Given the description of an element on the screen output the (x, y) to click on. 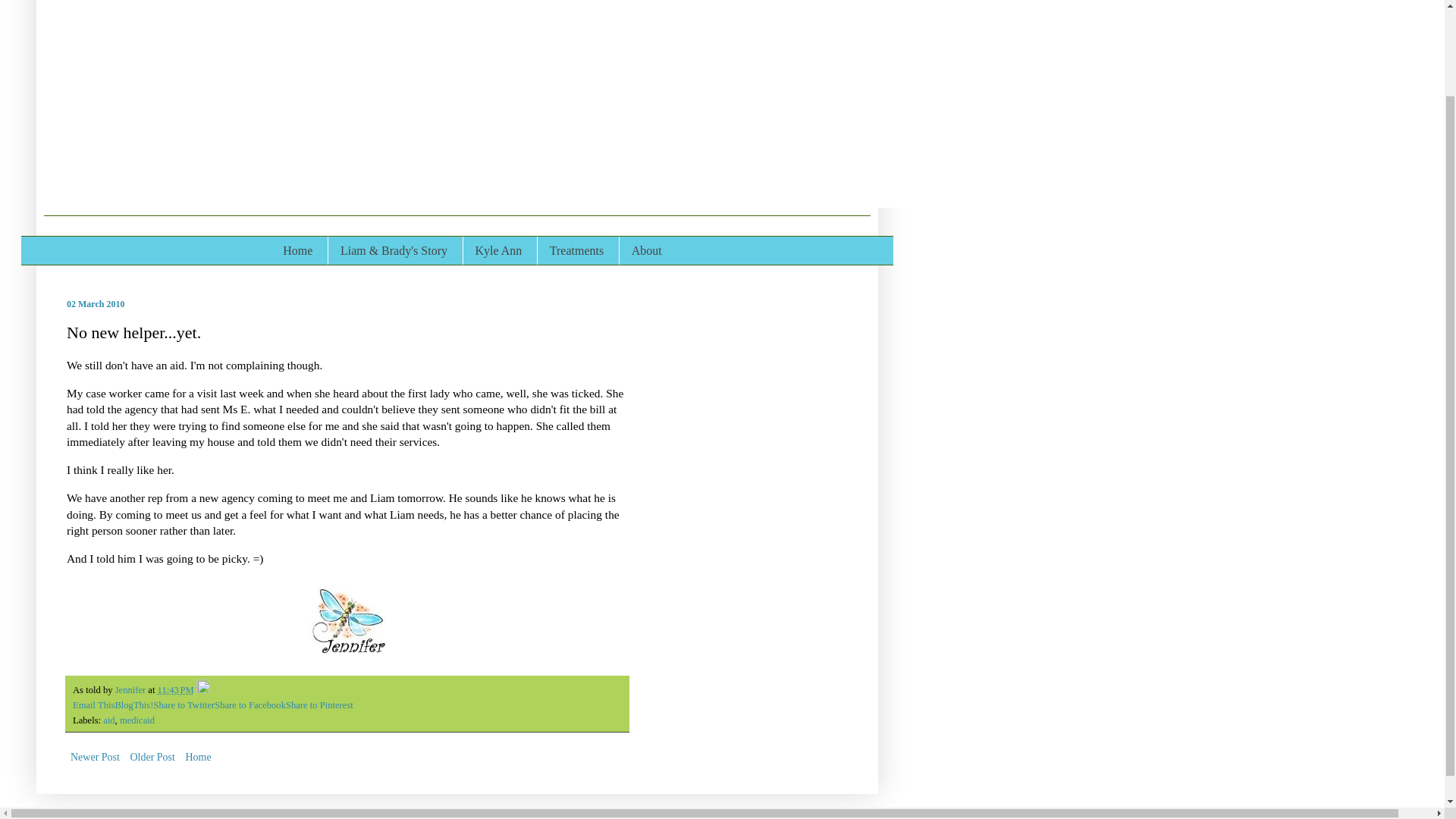
Share to Twitter (183, 705)
medicaid (136, 719)
Share to Facebook (249, 705)
Share to Facebook (249, 705)
Newer Post (94, 756)
Email This (93, 705)
Email This (93, 705)
Jennifer (131, 689)
Kyle Ann (498, 250)
BlogThis! (133, 705)
